Given the description of an element on the screen output the (x, y) to click on. 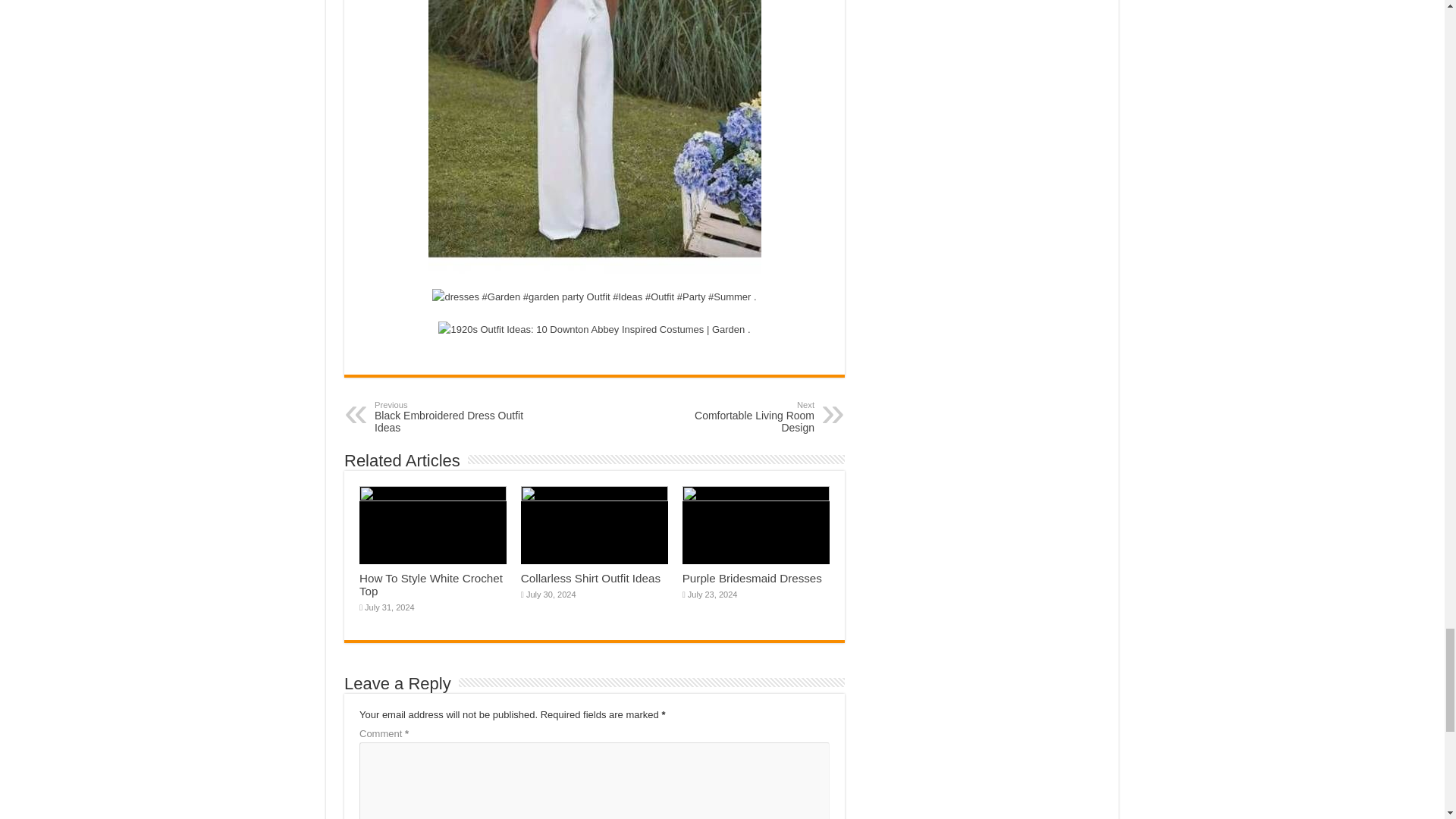
Collarless Shirt Outfit Ideas (591, 577)
How To Style White Crochet Top (451, 417)
Purple Bridesmaid Dresses (736, 417)
